Given the description of an element on the screen output the (x, y) to click on. 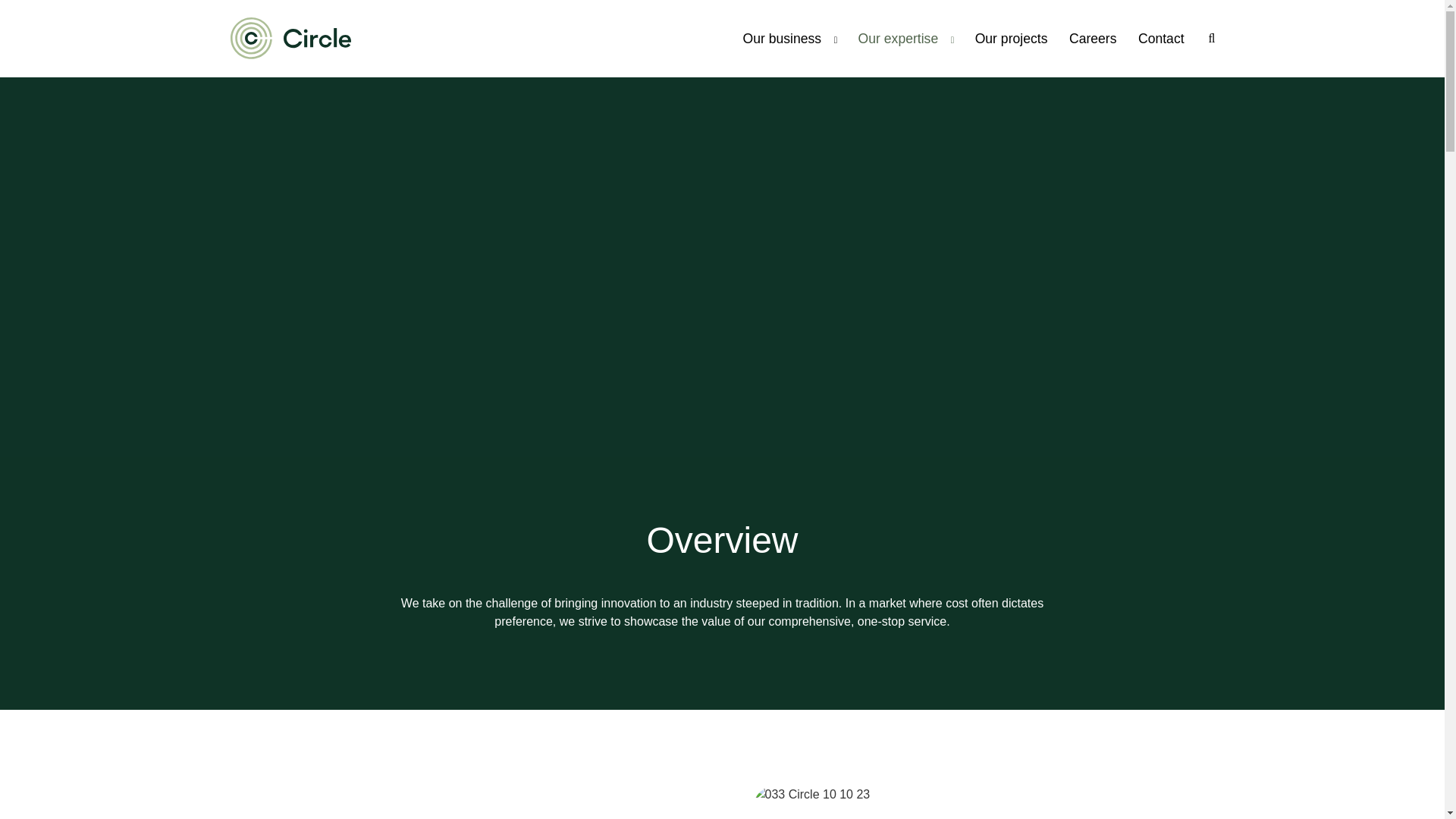
Our projects (1011, 38)
Careers (1092, 38)
Our business (789, 38)
Contact (1161, 38)
Our expertise (905, 38)
